Given the description of an element on the screen output the (x, y) to click on. 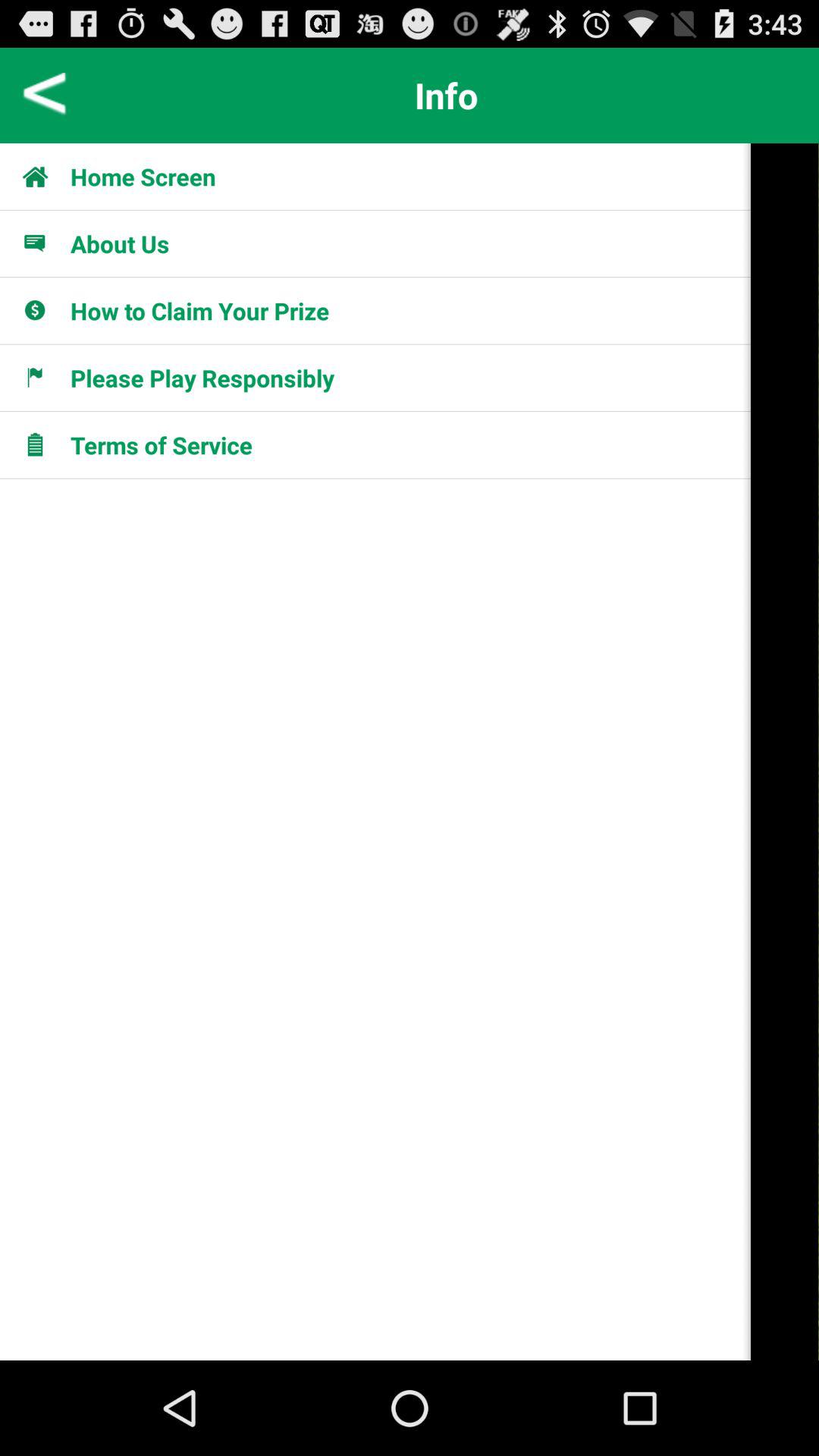
scroll to the about us icon (119, 243)
